Given the description of an element on the screen output the (x, y) to click on. 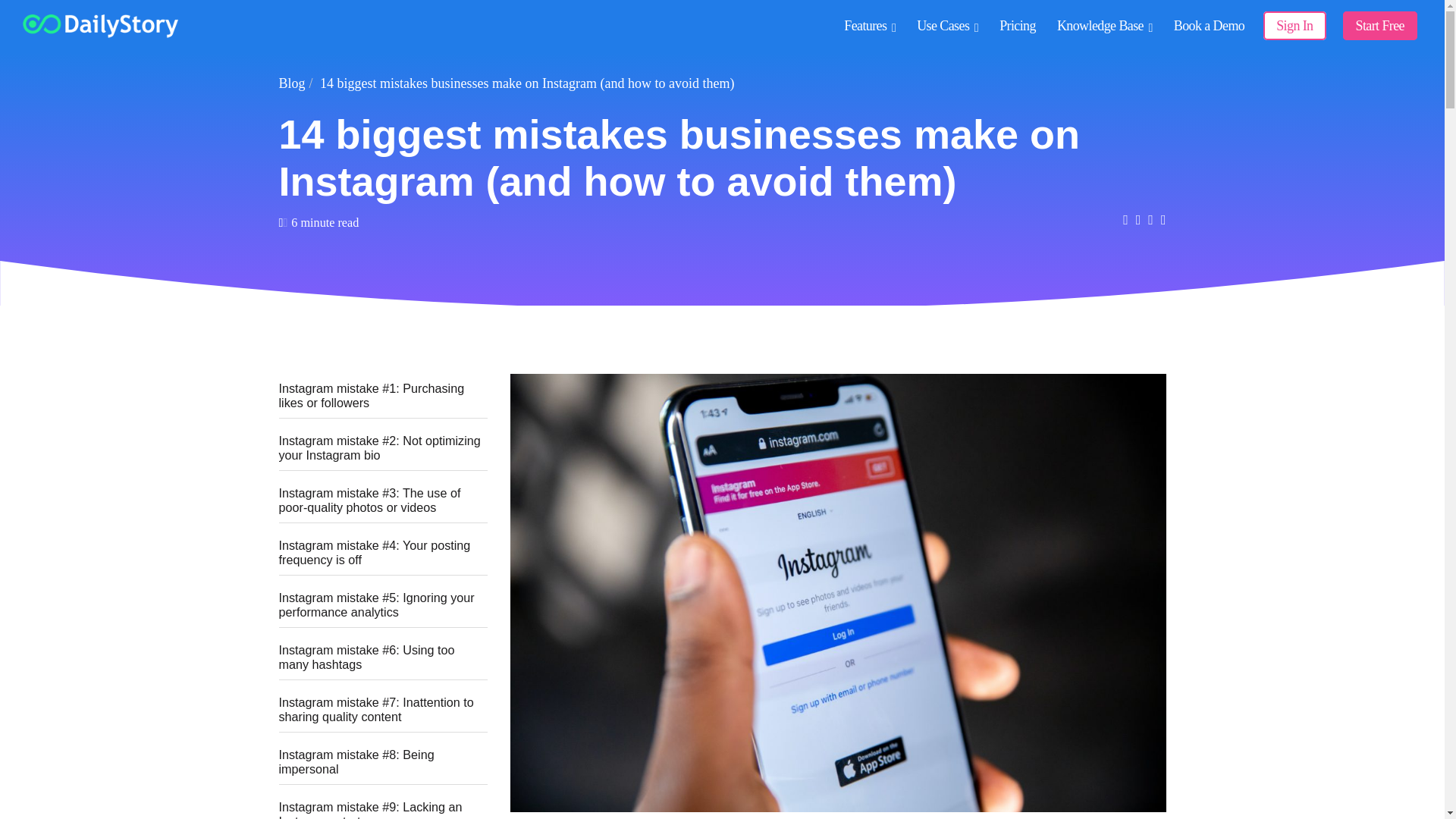
Pricing (1017, 25)
Knowledge Base (1104, 25)
Features (869, 25)
Sign In (1293, 25)
Book a Demo (1209, 25)
Use Cases (946, 25)
Start Free (1379, 25)
